Given the description of an element on the screen output the (x, y) to click on. 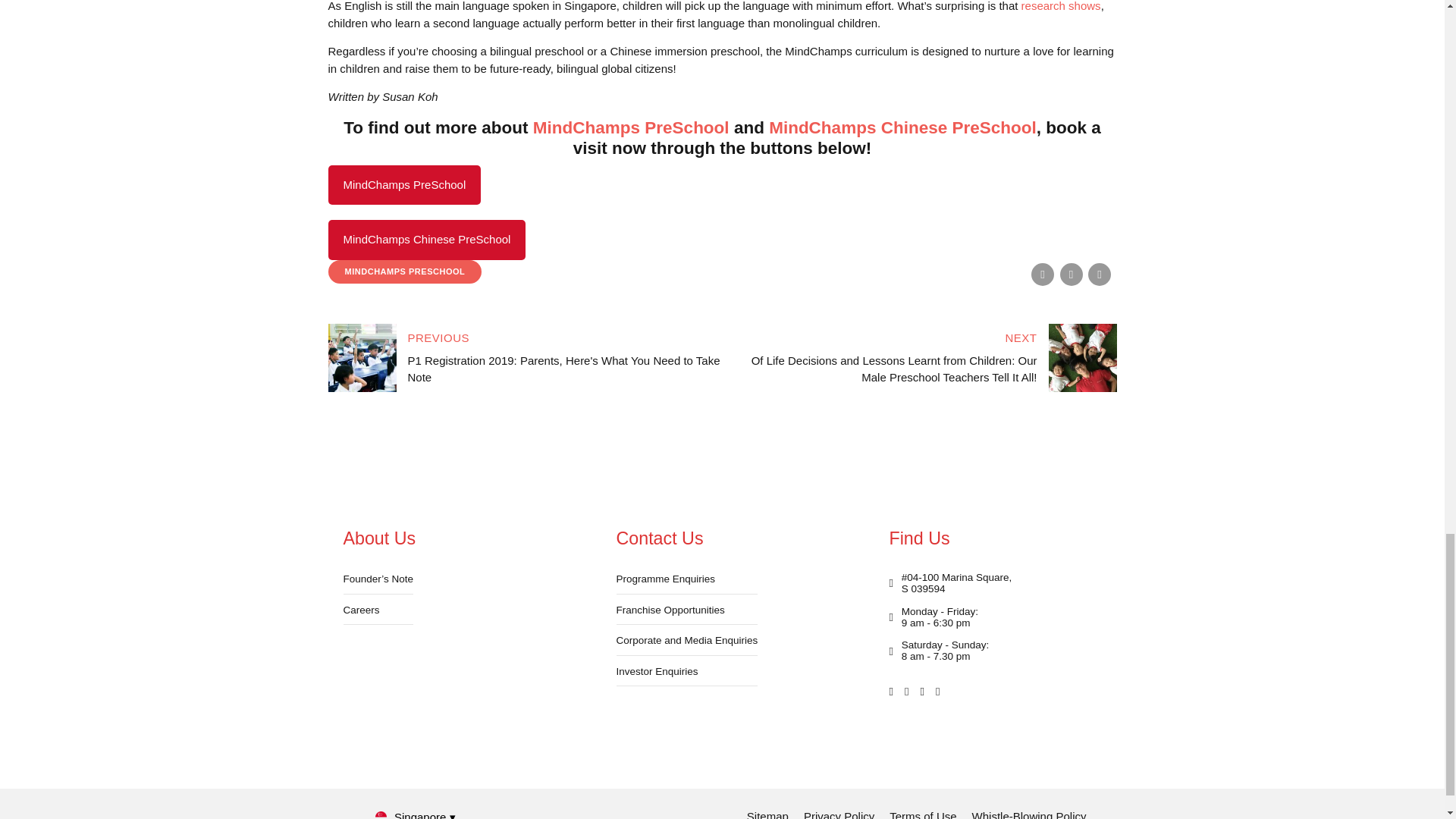
Share on Twitter (1071, 273)
Share on Linkedin (1098, 273)
Share on Facebook (1042, 273)
